Given the description of an element on the screen output the (x, y) to click on. 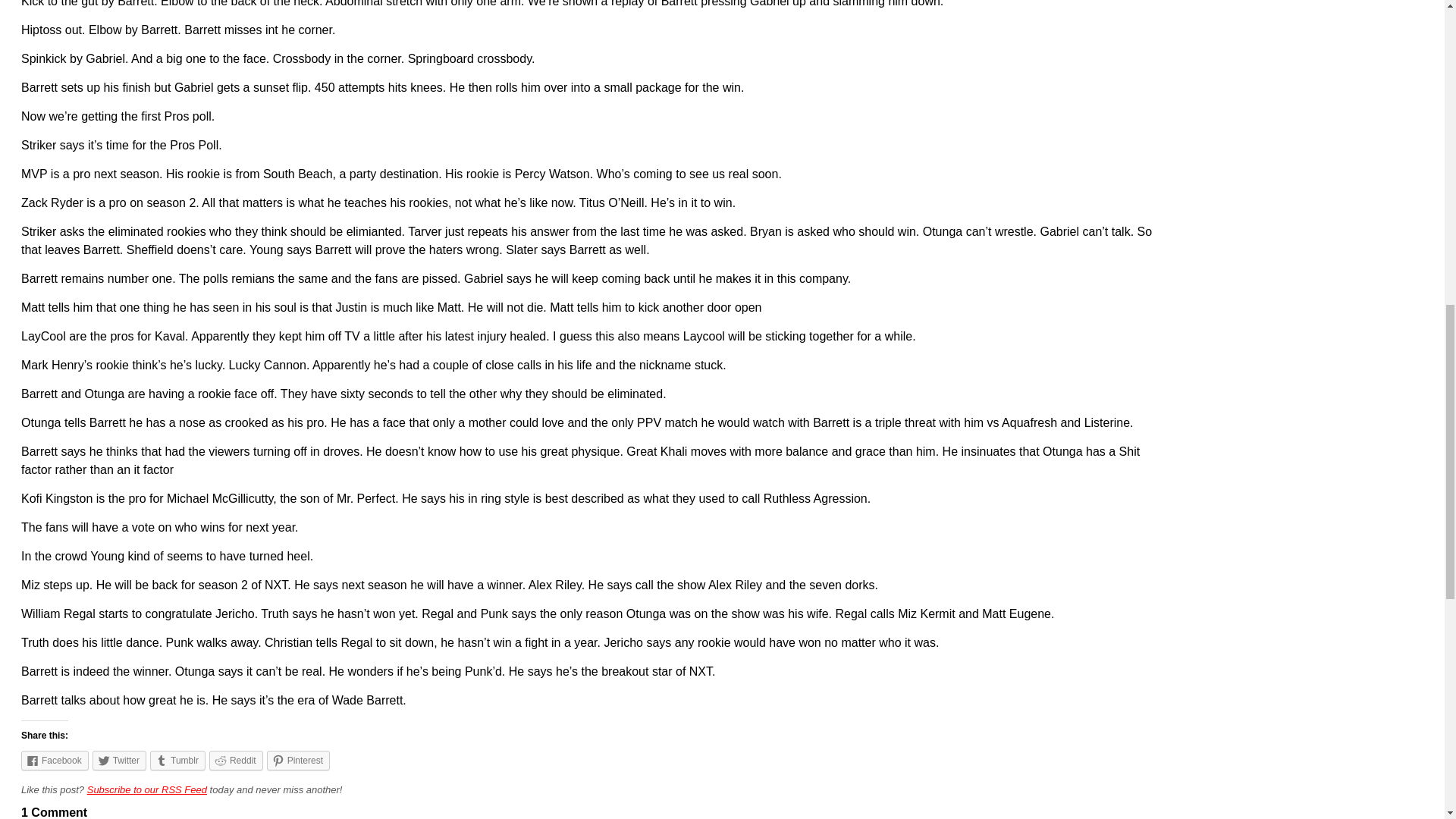
Click to share on Twitter (120, 760)
Click to share on Pinterest (298, 760)
Twitter (120, 760)
Reddit (236, 760)
Pinterest (298, 760)
Click to share on Tumblr (177, 760)
Tumblr (177, 760)
Facebook (54, 760)
Subscribe to our RSS Feed (146, 789)
Click to share on Reddit (236, 760)
